Given the description of an element on the screen output the (x, y) to click on. 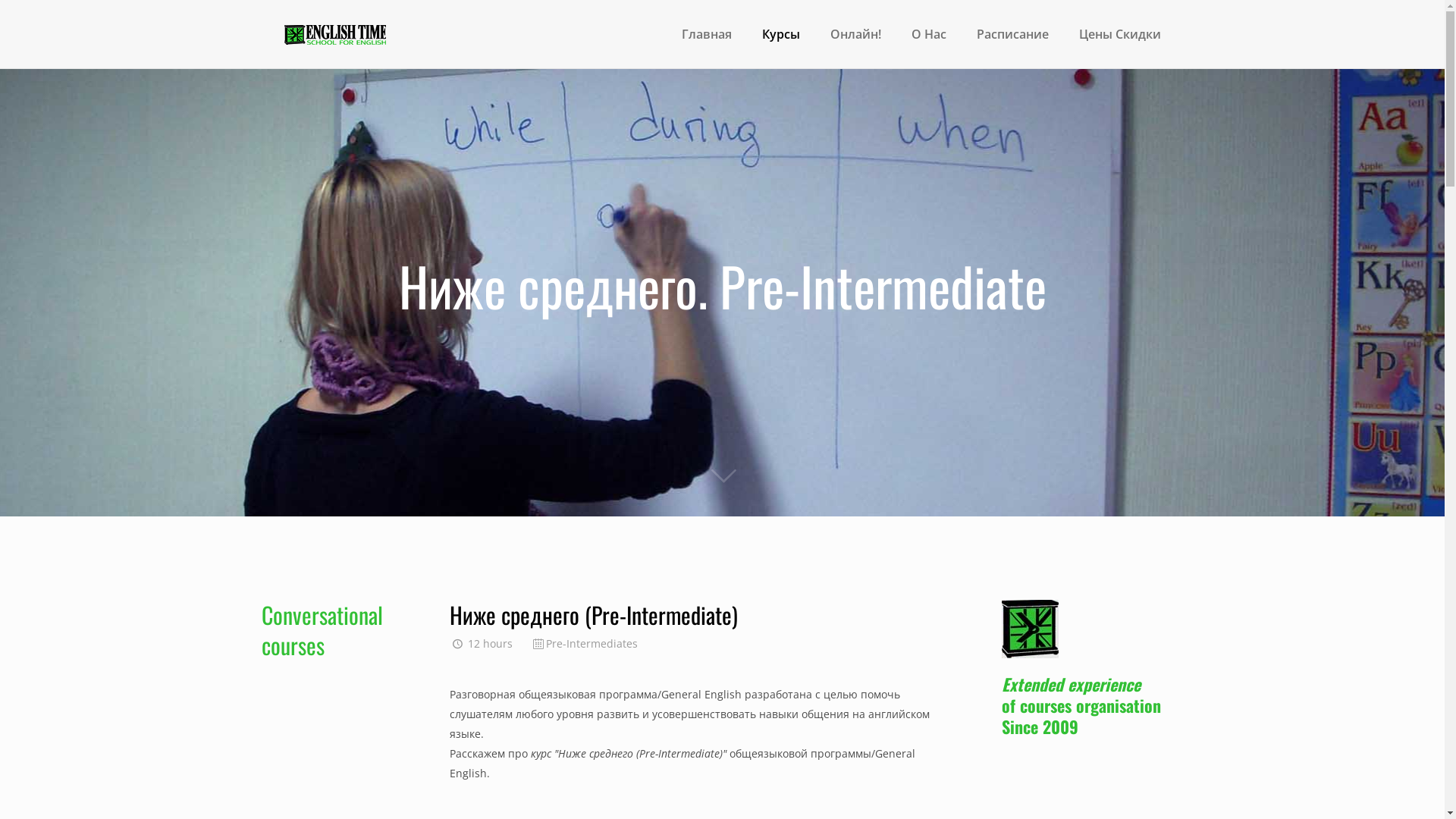
home_elearning_blogdetails2 Element type: hover (1029, 628)
